Given the description of an element on the screen output the (x, y) to click on. 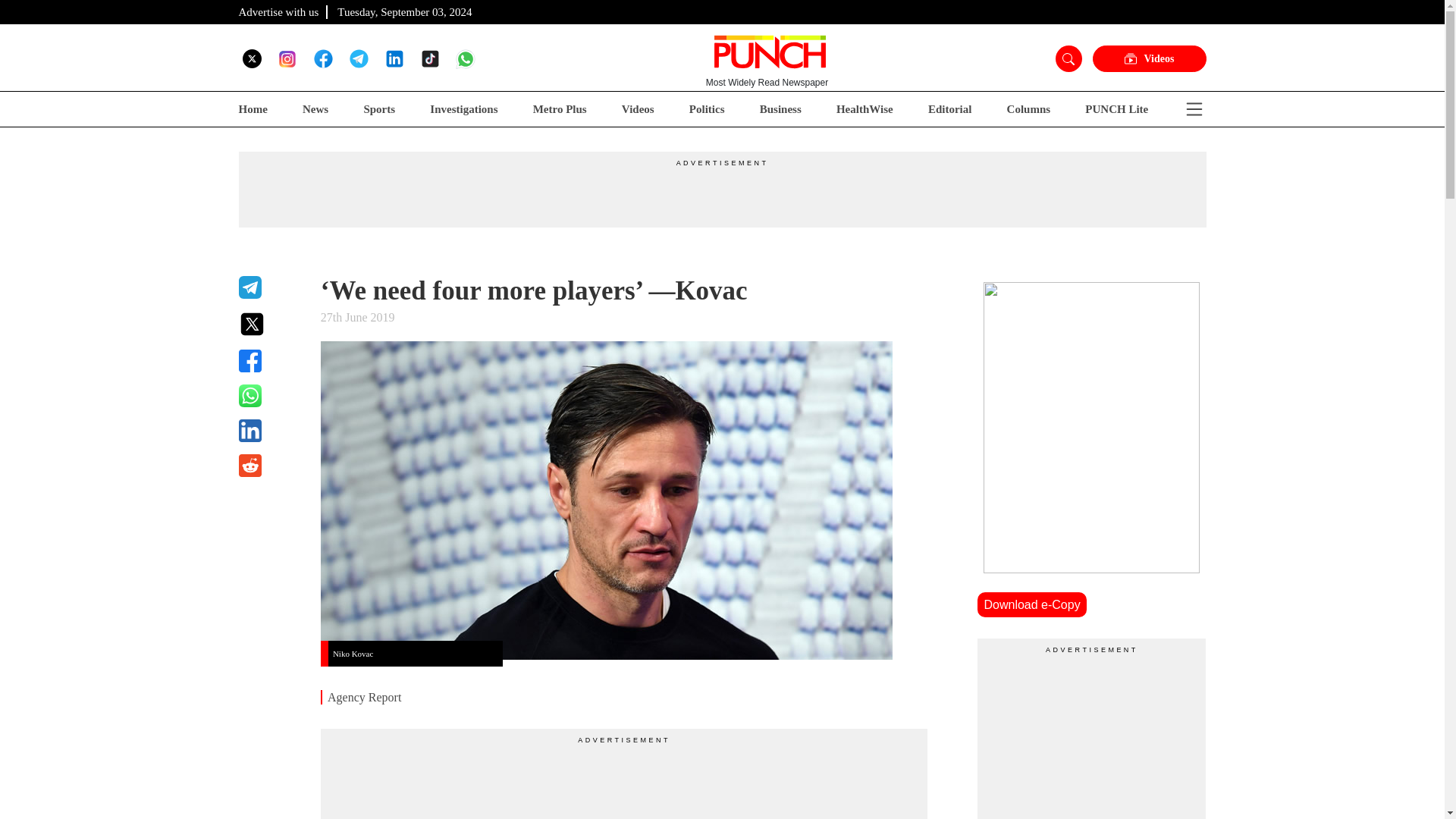
Follow us on Linkedin (395, 58)
Follow Us on Instagram (287, 58)
Sports (378, 109)
Business (781, 109)
Follow Us on Facebook (323, 58)
Follow Our Channel on Telegram (358, 58)
Share on Twitter (269, 324)
Share on Facbook (269, 360)
Home (252, 109)
Editorial (950, 109)
